Given the description of an element on the screen output the (x, y) to click on. 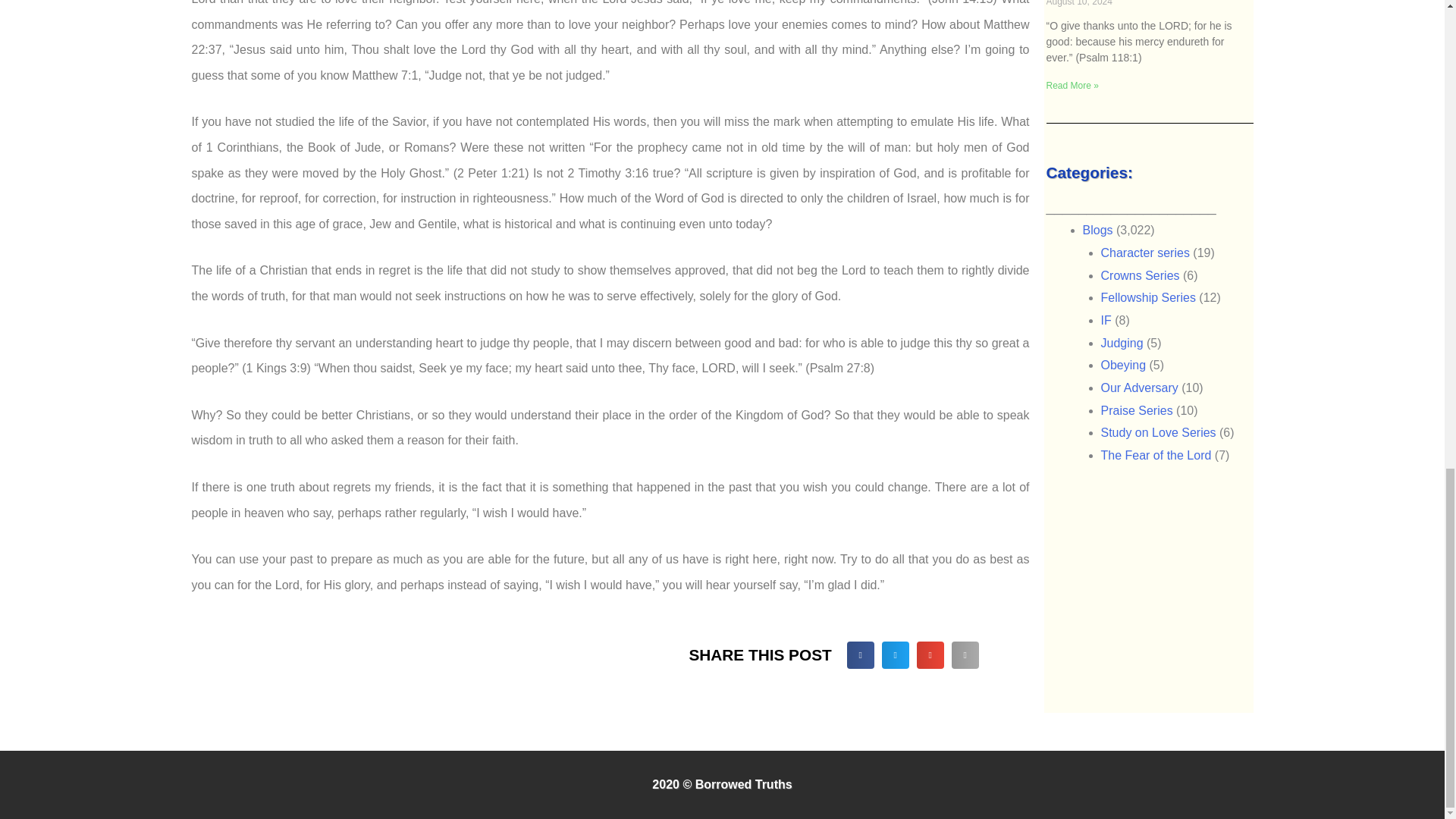
Our Adversary (1138, 387)
Blogs (1098, 229)
Obeying (1123, 364)
Character series (1144, 252)
Praise Series (1136, 410)
Fellowship Series (1147, 297)
Crowns Series (1139, 275)
The Fear of the Lord (1155, 454)
Study on Love Series (1157, 431)
Judging (1121, 342)
